Given the description of an element on the screen output the (x, y) to click on. 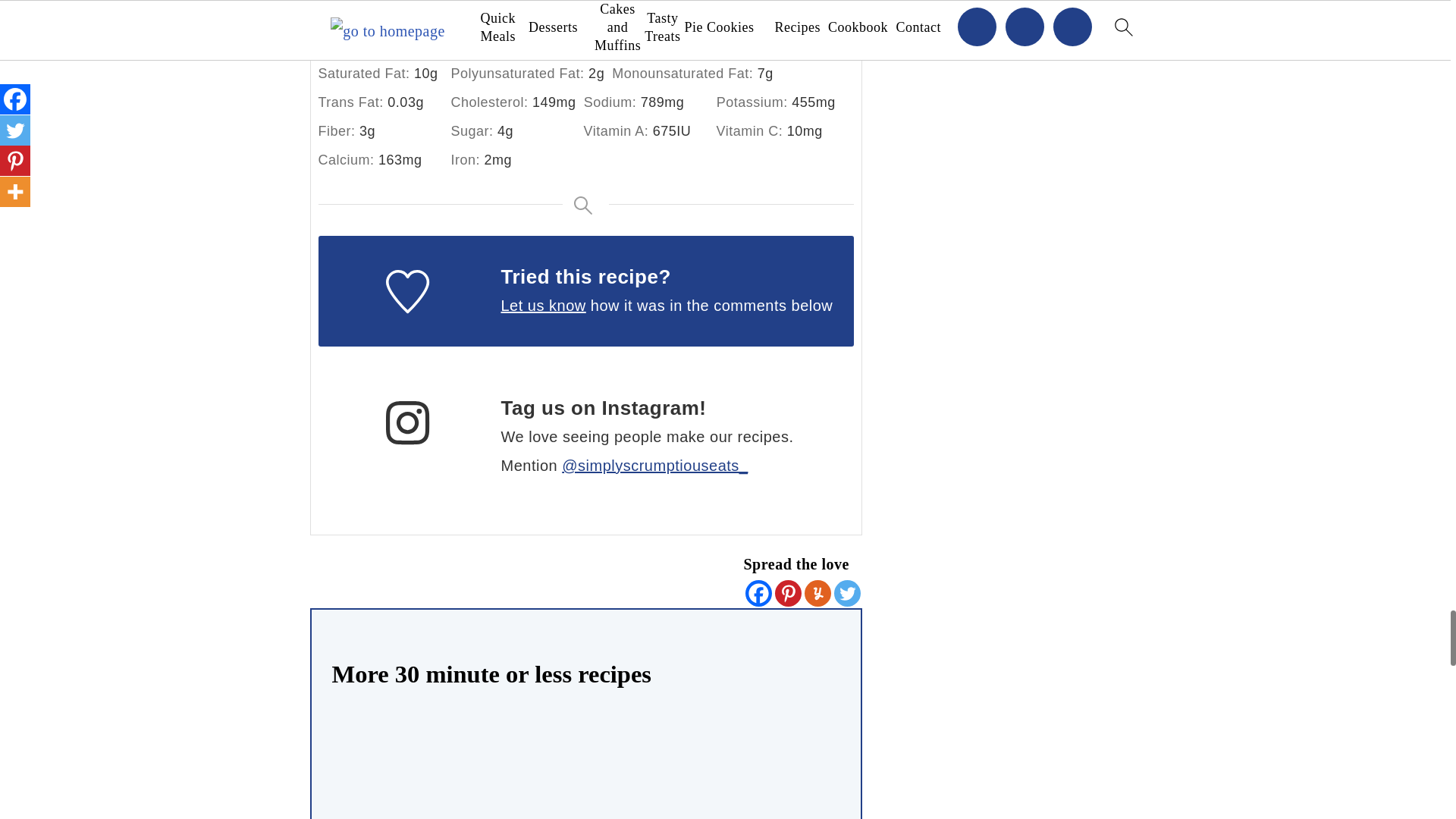
Yummly (816, 592)
Twitter (847, 592)
Pinterest (788, 592)
Facebook (757, 592)
